Given the description of an element on the screen output the (x, y) to click on. 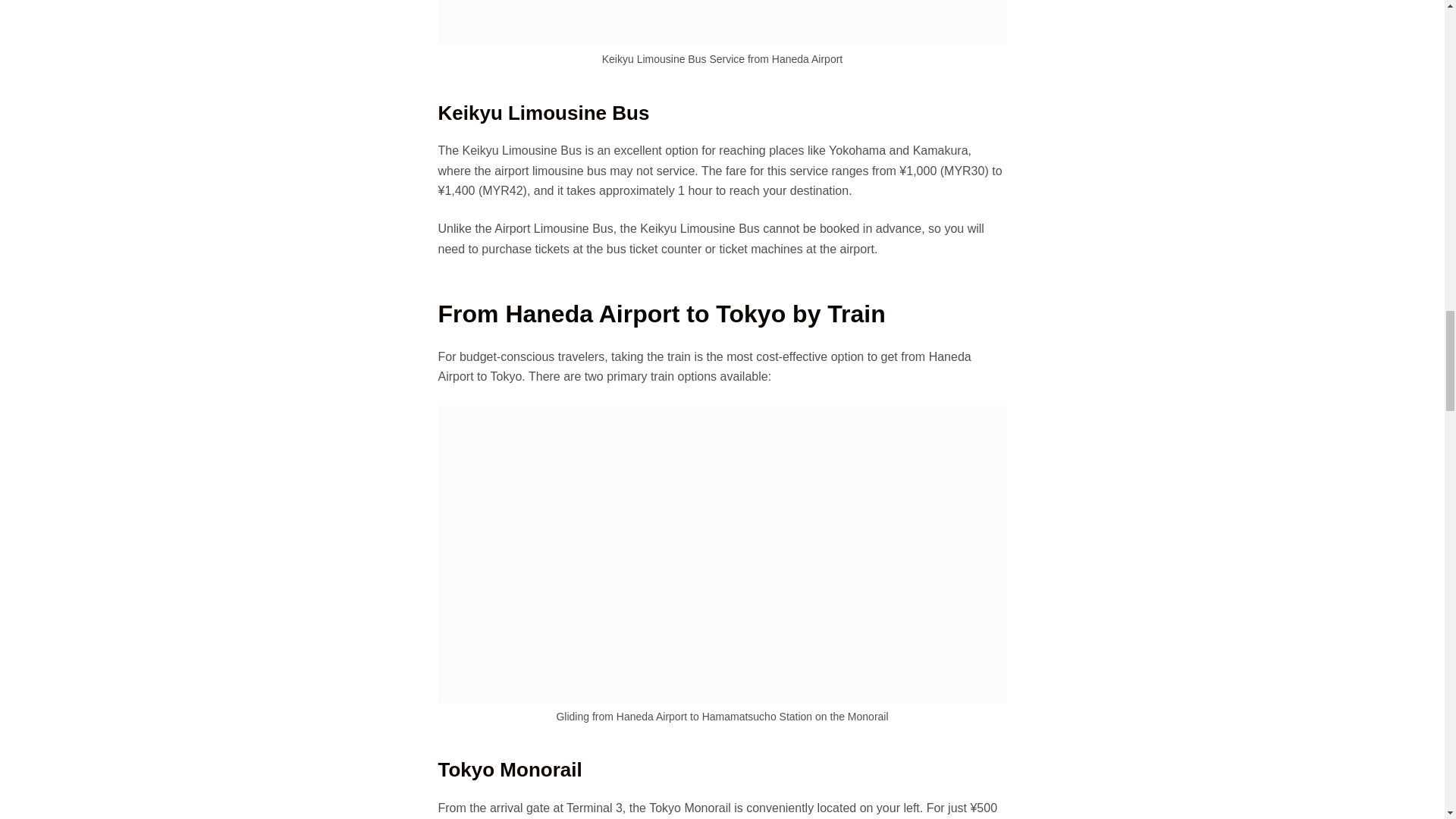
How to get from Haneda Airport To Tokyo (722, 22)
